Given the description of an element on the screen output the (x, y) to click on. 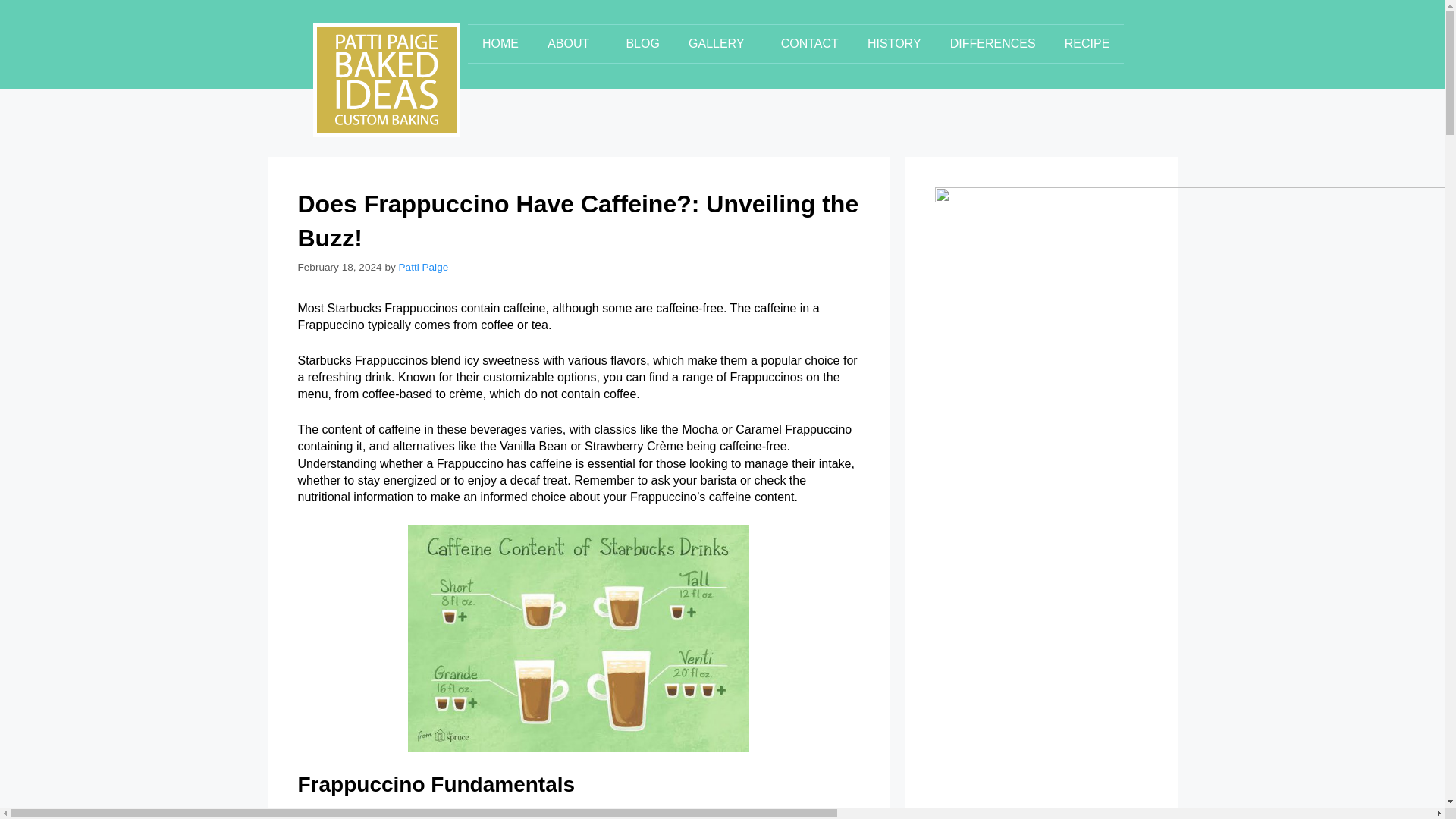
ABOUT (571, 43)
DIFFERENCES (992, 43)
HOME (499, 43)
CONTACT (810, 43)
View all posts by Patti Paige (423, 266)
Patti Paige (423, 266)
RECIPE (1086, 43)
GALLERY (720, 43)
BLOG (642, 43)
HISTORY (894, 43)
